Given the description of an element on the screen output the (x, y) to click on. 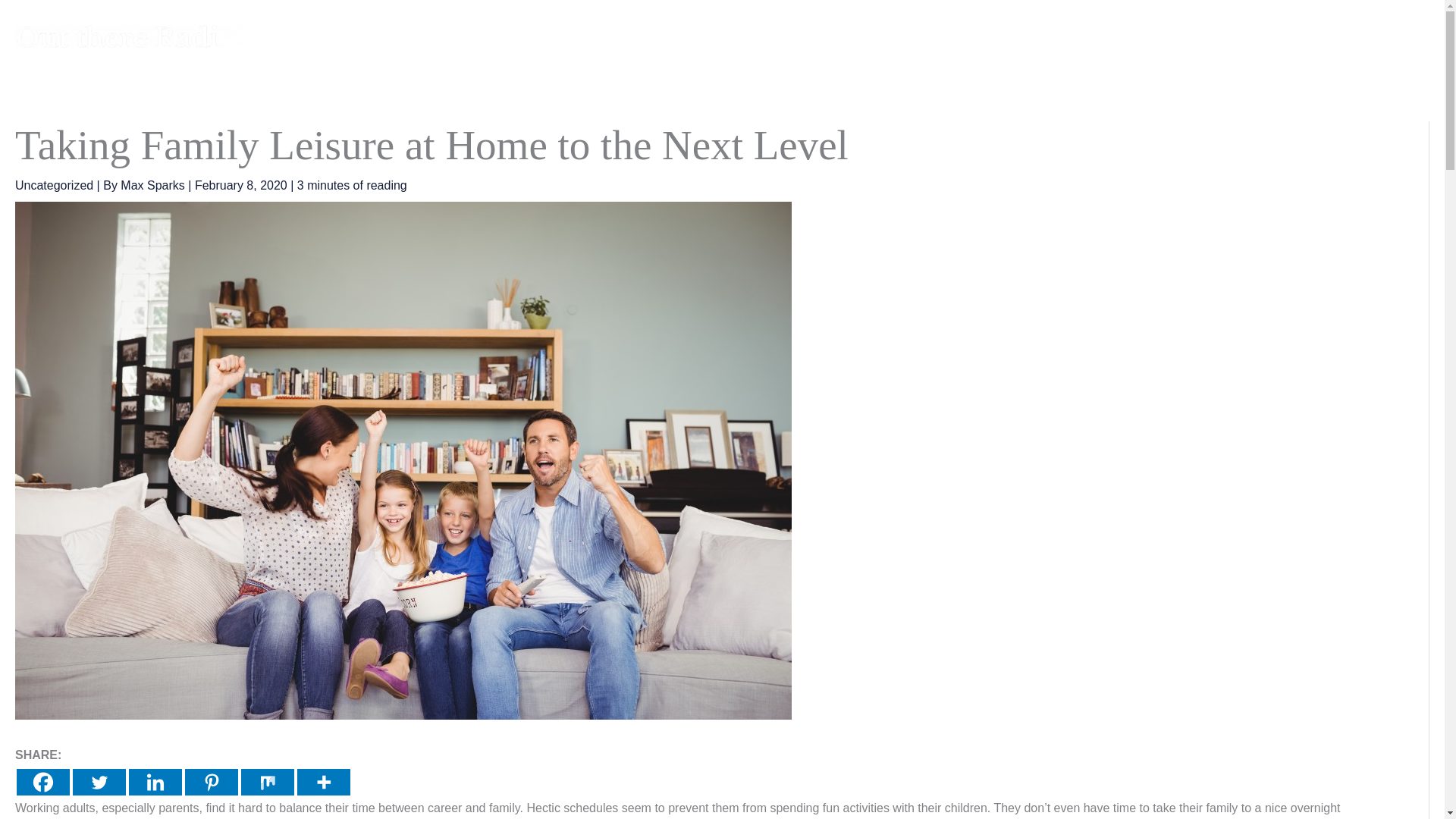
Facebook (42, 782)
Search (1413, 36)
Max Sparks (153, 185)
Pinterest (211, 782)
Twitter (98, 782)
Linkedin (155, 782)
Uncategorized (53, 185)
Business (1015, 36)
Mix (267, 782)
More (323, 782)
View all posts by Max Sparks (153, 185)
Technology (1101, 36)
